Given the description of an element on the screen output the (x, y) to click on. 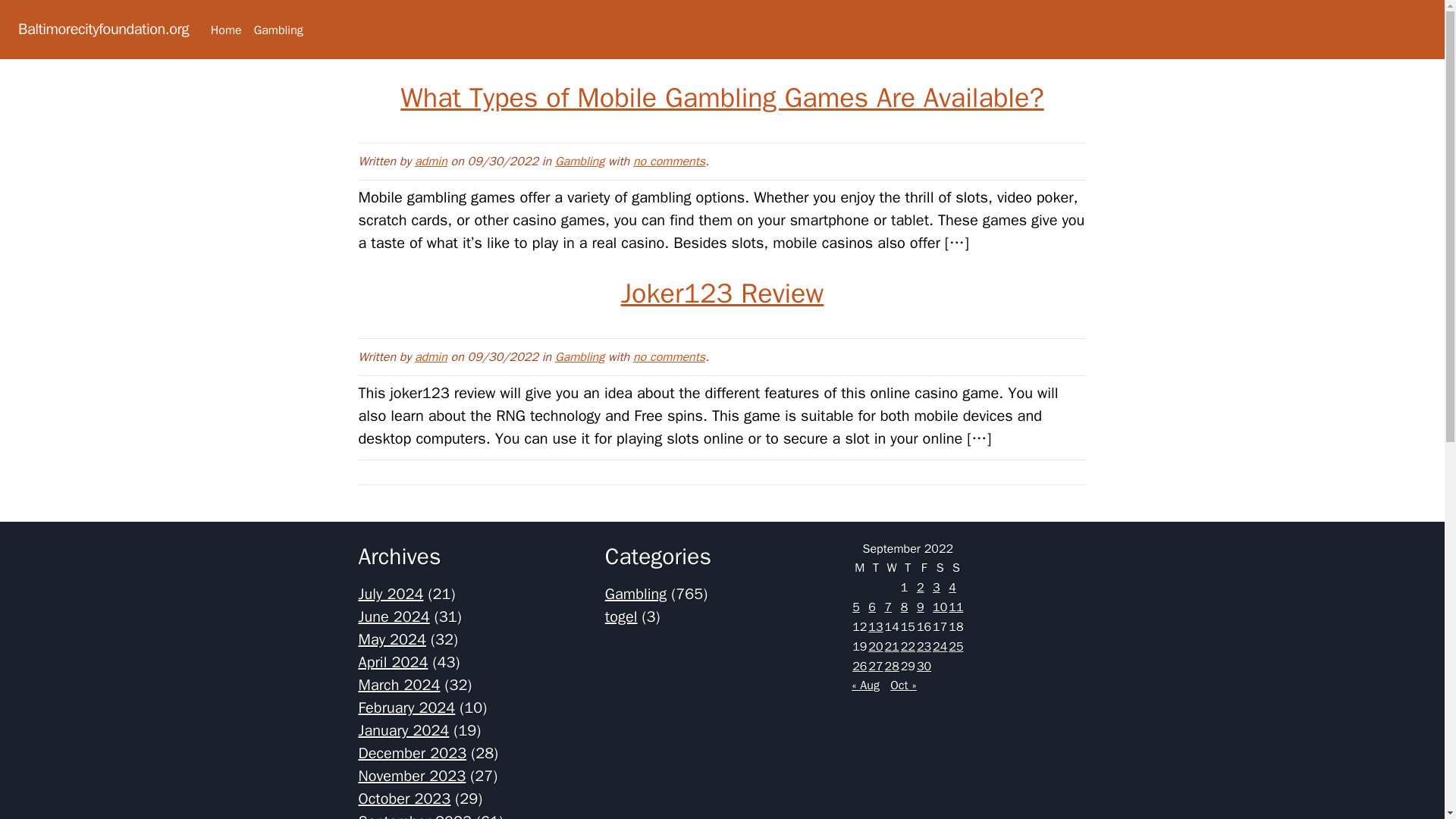
December 2023 (411, 752)
no comments (668, 160)
Home (226, 30)
Sunday (955, 567)
Gambling (277, 30)
no comments (668, 160)
admin (430, 160)
November 2023 (411, 775)
Gambling (579, 160)
no comments (668, 356)
January 2024 (403, 730)
March 2024 (398, 684)
Gambling (579, 356)
Friday (923, 567)
Joker123 Review (722, 292)
